Given the description of an element on the screen output the (x, y) to click on. 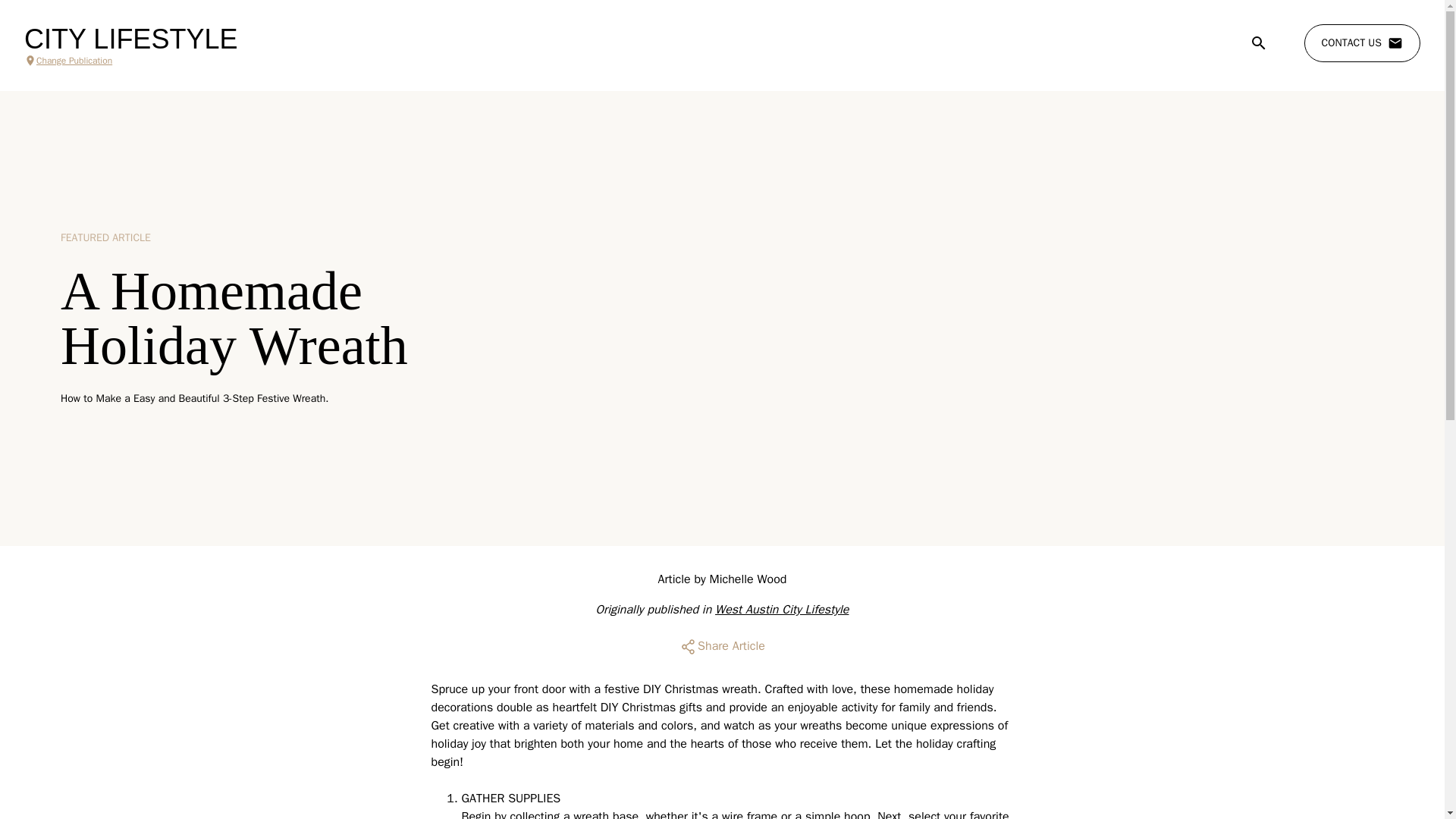
Share Article (722, 646)
West Austin City Lifestyle (781, 609)
Change Publication (130, 60)
CONTACT US (1362, 43)
CITY LIFESTYLE (130, 39)
